Given the description of an element on the screen output the (x, y) to click on. 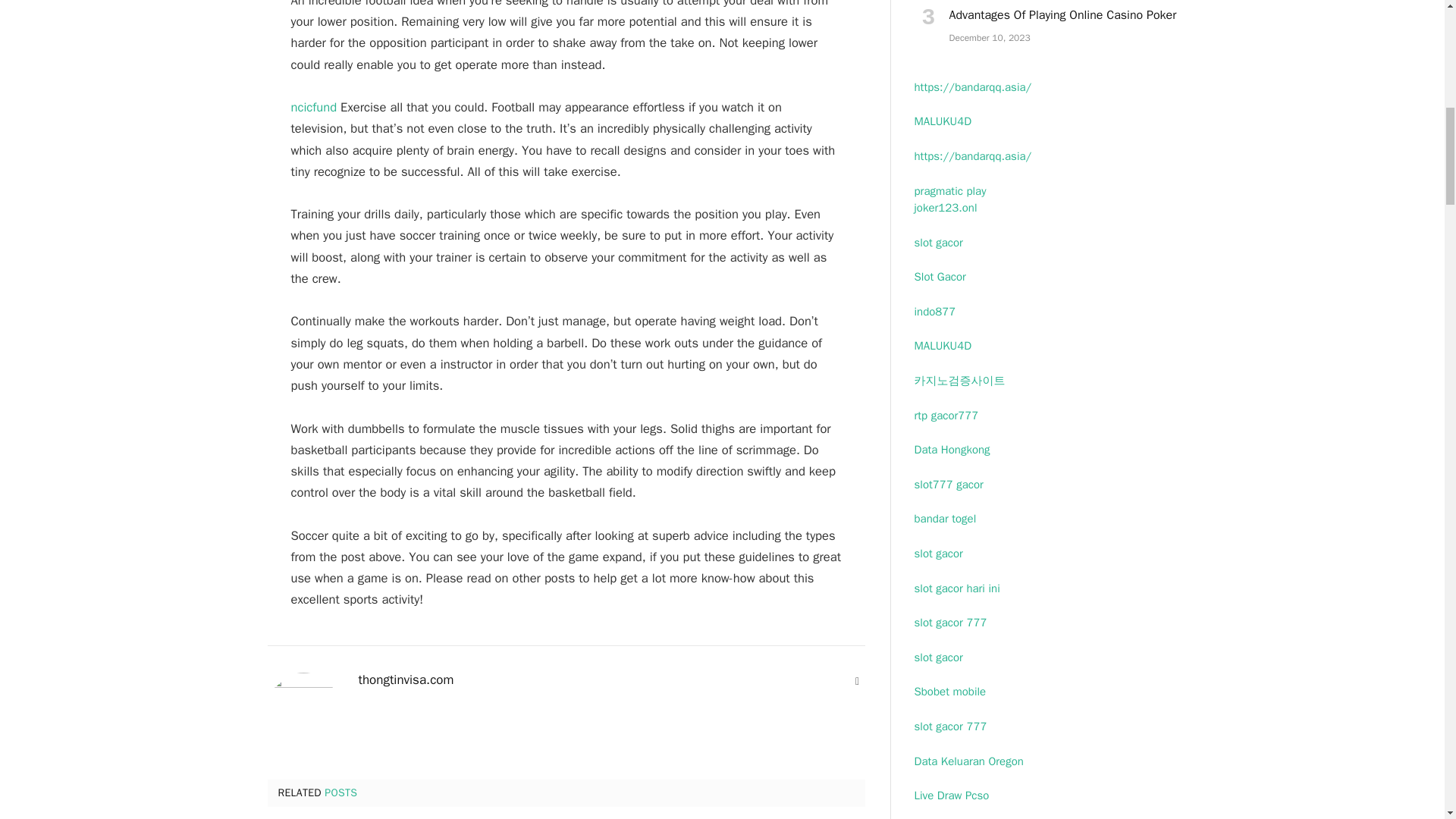
Website (856, 681)
Posts by thongtinvisa.com (405, 679)
ncicfund (314, 107)
thongtinvisa.com (405, 679)
Website (856, 681)
